Given the description of an element on the screen output the (x, y) to click on. 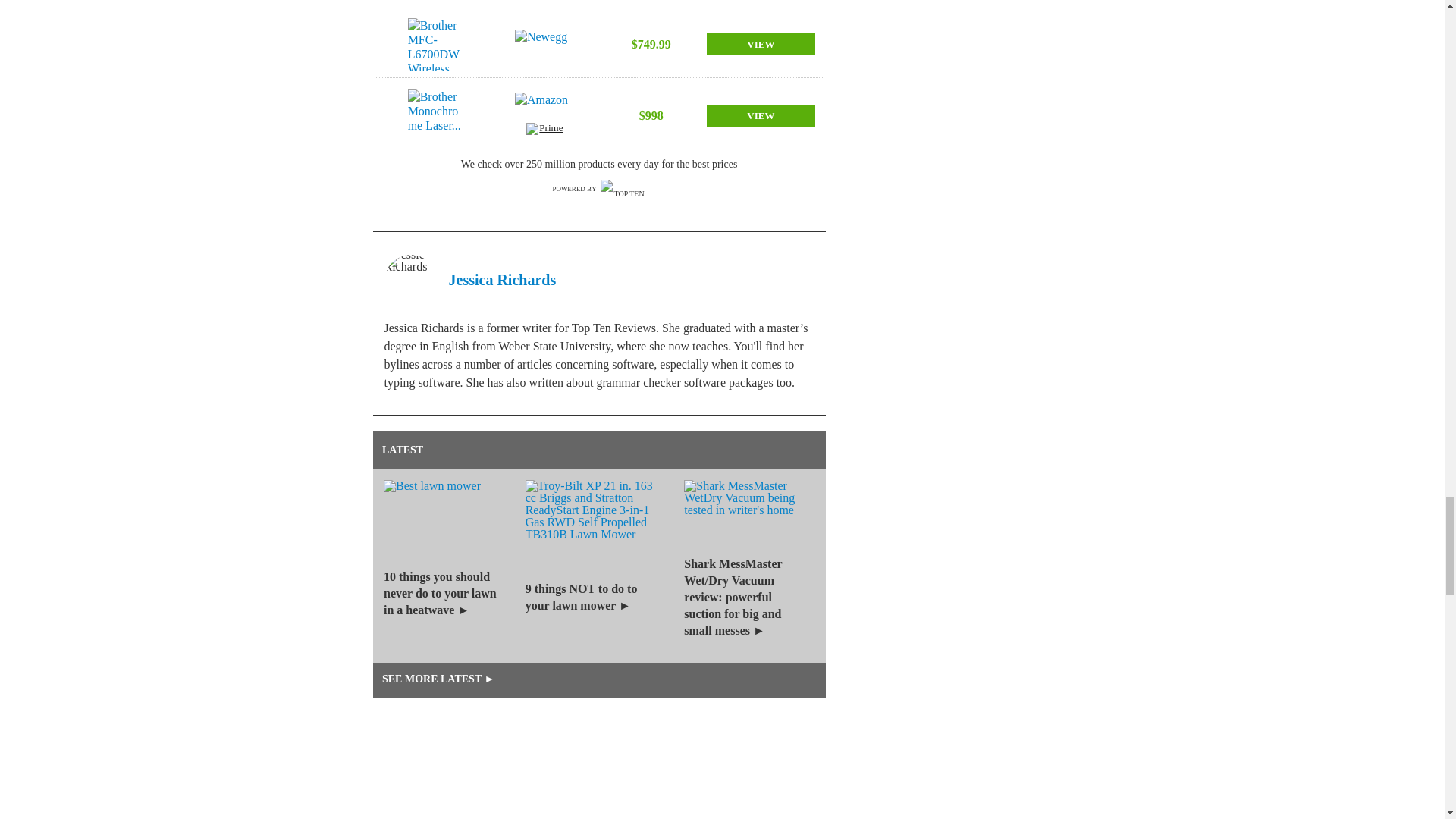
Brother Monochrome Laser... (437, 115)
Top Ten Reviews (622, 189)
Prime (544, 130)
Amazon (545, 107)
Brother MFC-L6700DW Wireless... (437, 44)
Newegg (545, 44)
